Given the description of an element on the screen output the (x, y) to click on. 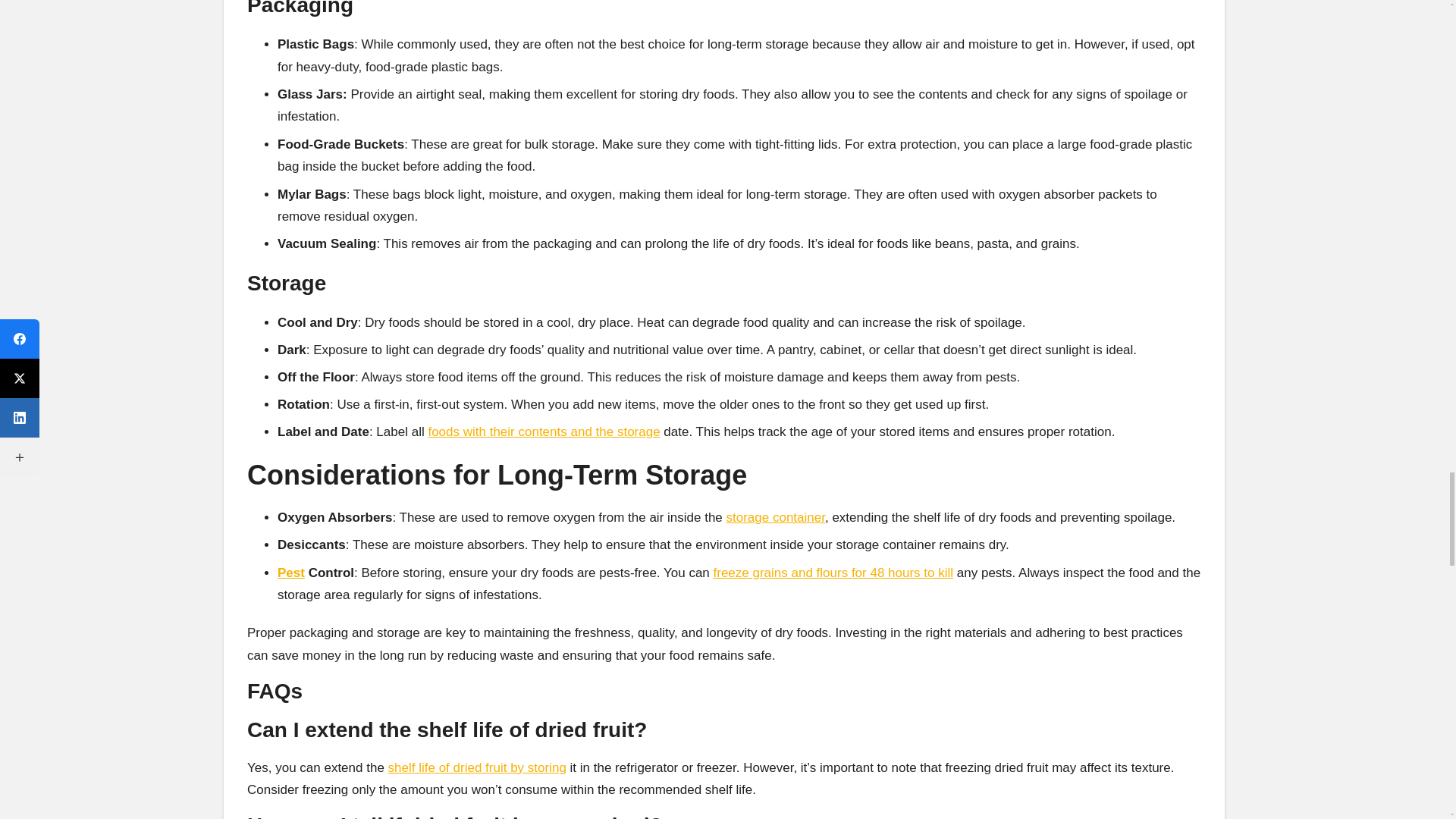
Pest (291, 572)
